Given the description of an element on the screen output the (x, y) to click on. 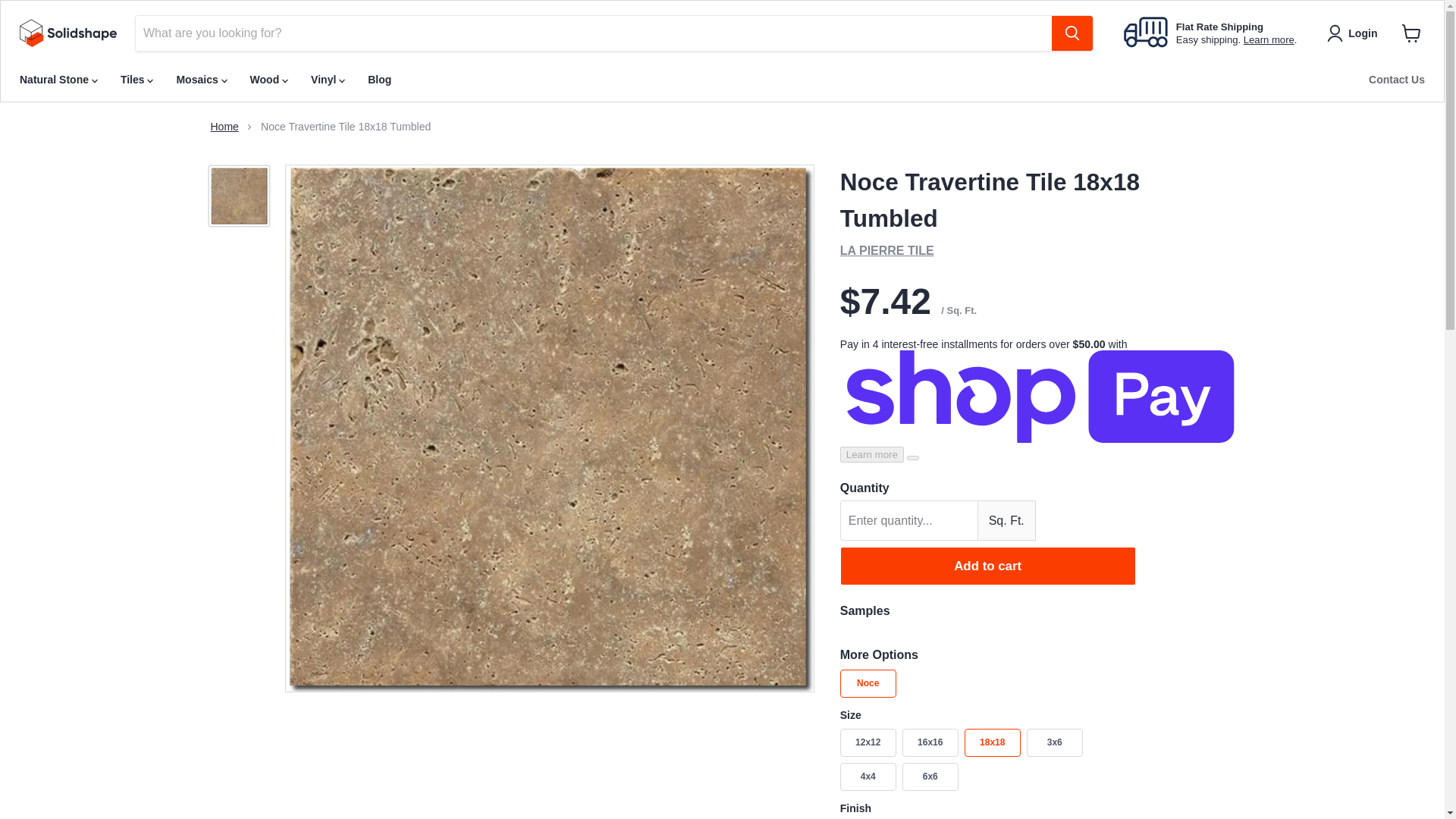
Learn more (1268, 39)
Shipping Policy (1268, 39)
Login (1354, 33)
La Pierre Tile (887, 250)
View cart (1411, 32)
Flat Rate Shipping (1219, 26)
